Given the description of an element on the screen output the (x, y) to click on. 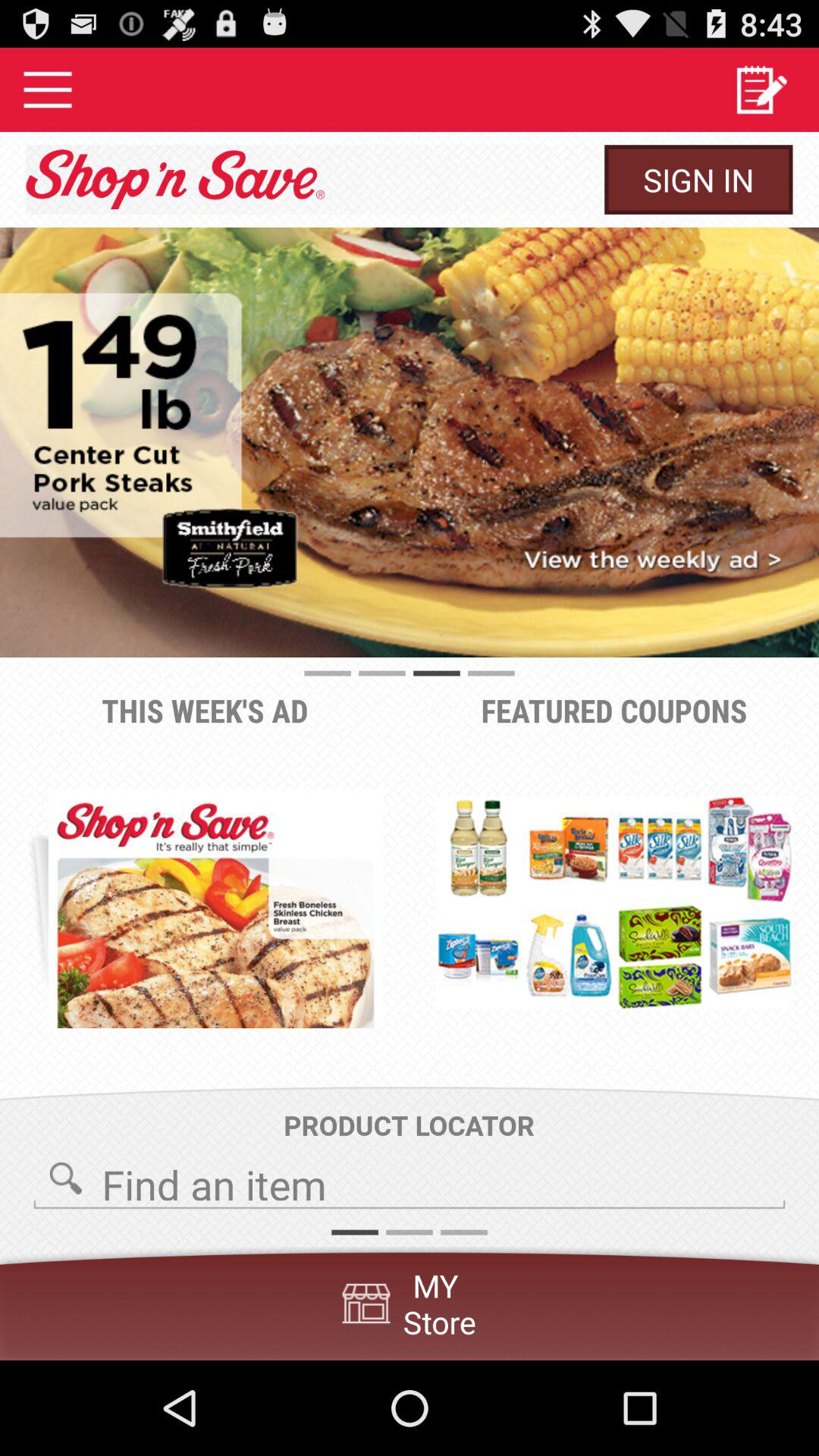
open search bar (409, 1179)
